Given the description of an element on the screen output the (x, y) to click on. 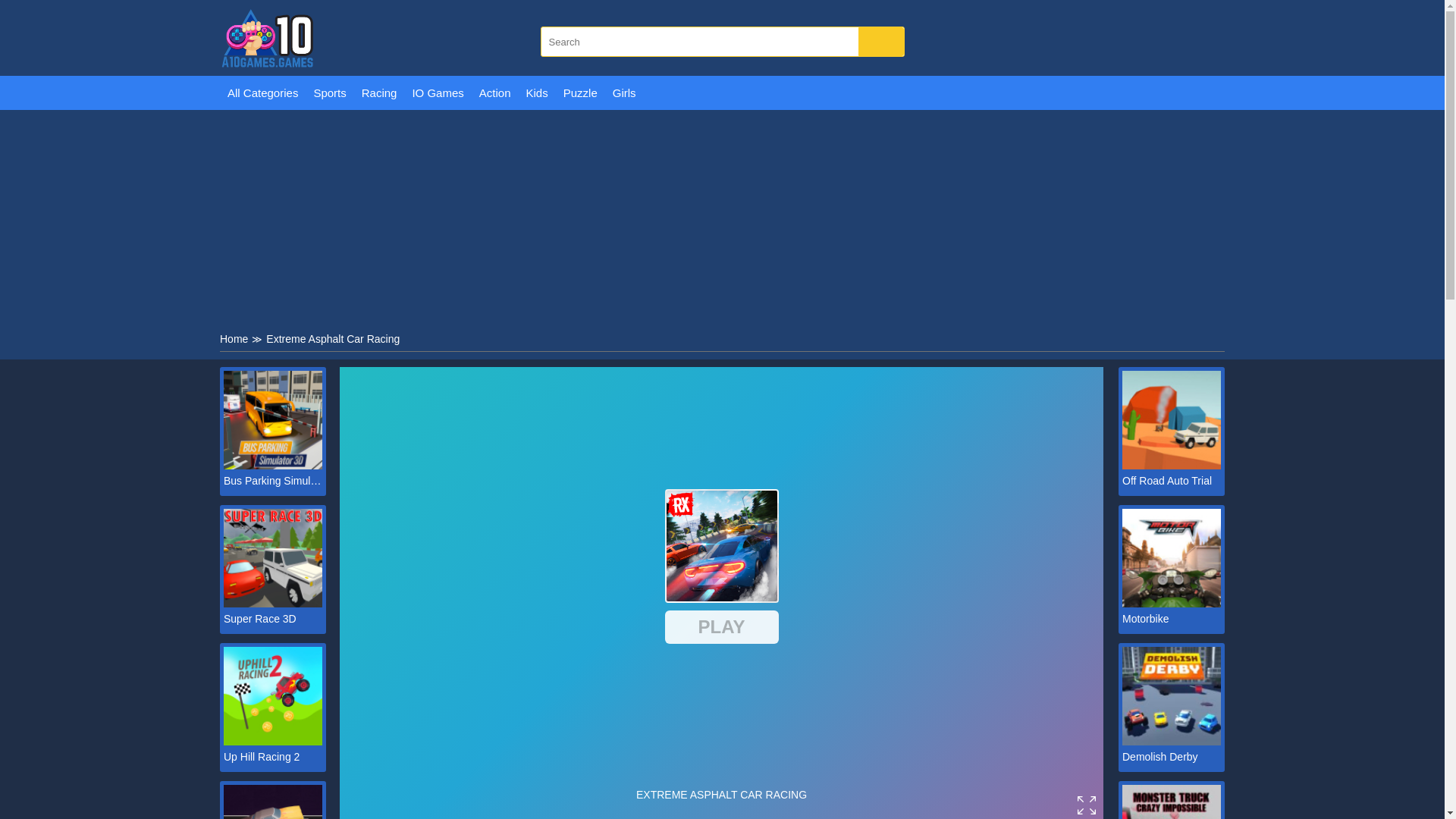
Girls (624, 92)
Racing (378, 92)
IO Games (437, 92)
IO Games (437, 92)
Motorbike (1171, 618)
All category (262, 92)
Sports (329, 92)
Action (494, 92)
All Categories (262, 92)
Kids (537, 92)
Bus Parking Simulator 3D (272, 480)
Home (233, 338)
Bus Parking Simulator 3D (272, 480)
Racing (378, 92)
Up Hill Racing 2 (272, 756)
